Given the description of an element on the screen output the (x, y) to click on. 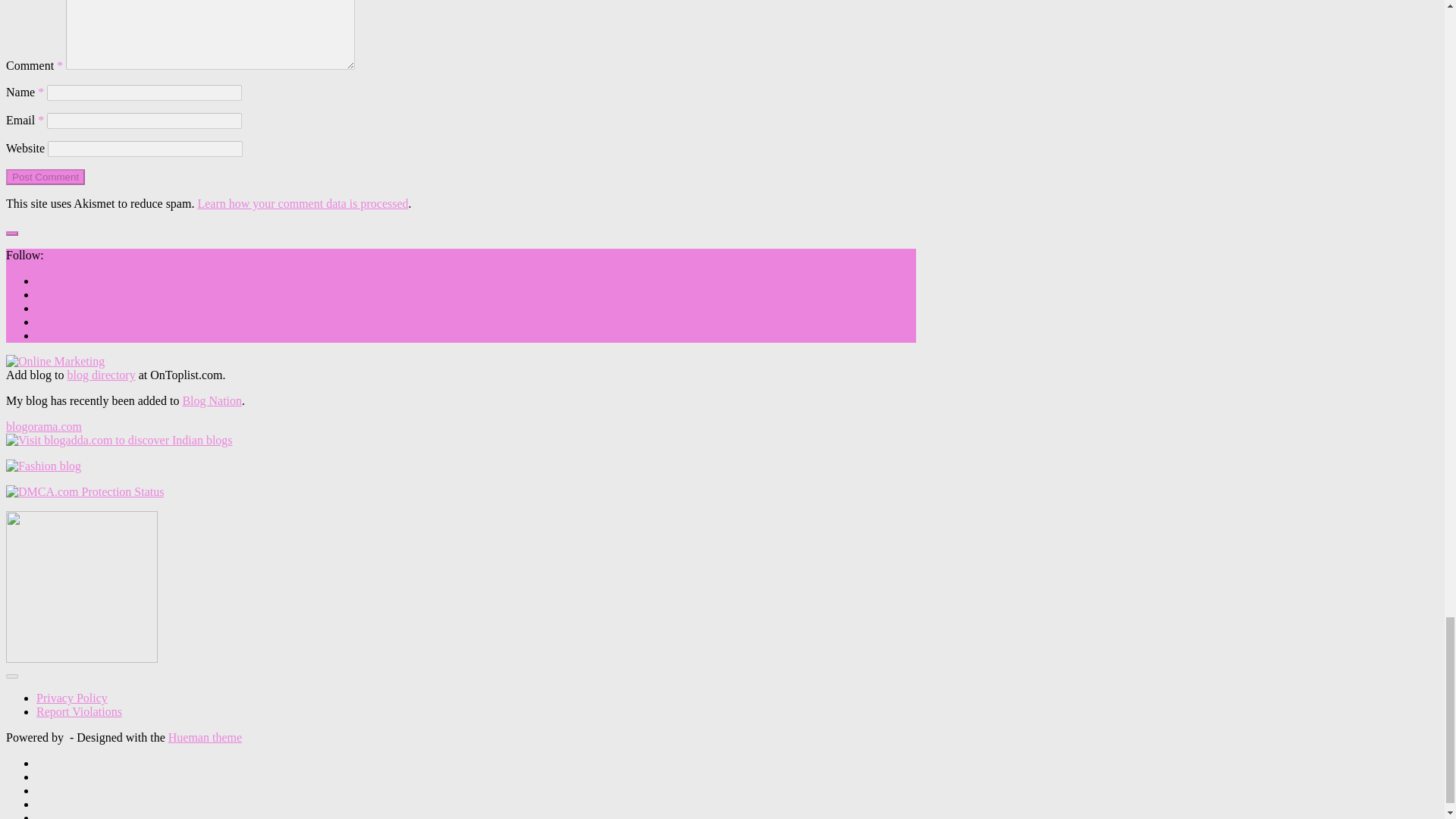
Online Marketing (54, 360)
Expand Sidebar (11, 232)
Post Comment (44, 176)
